Given the description of an element on the screen output the (x, y) to click on. 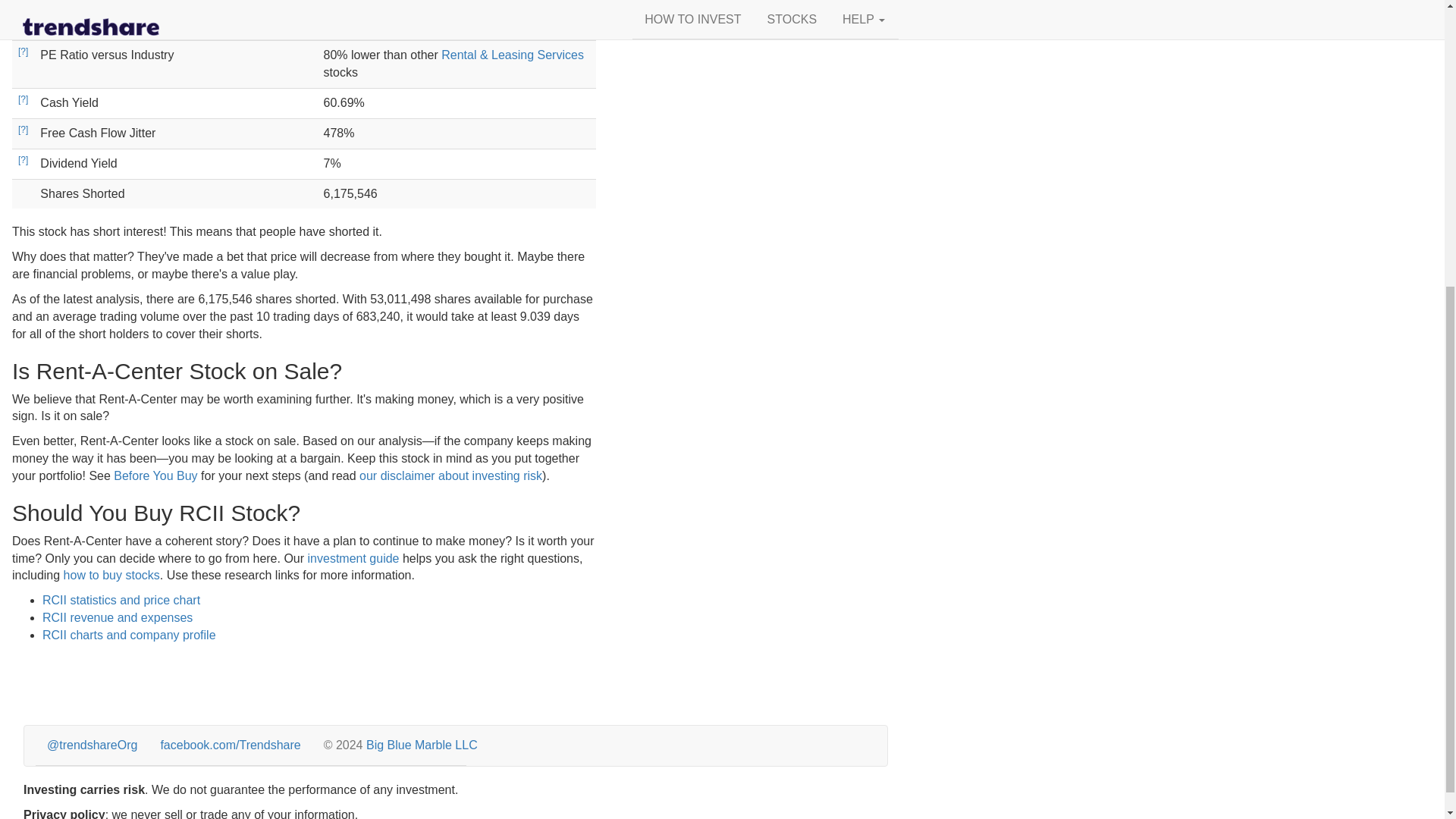
our disclaimer about investing risk (450, 475)
Industrial Goods (485, 24)
Before You Buy (154, 475)
